Given the description of an element on the screen output the (x, y) to click on. 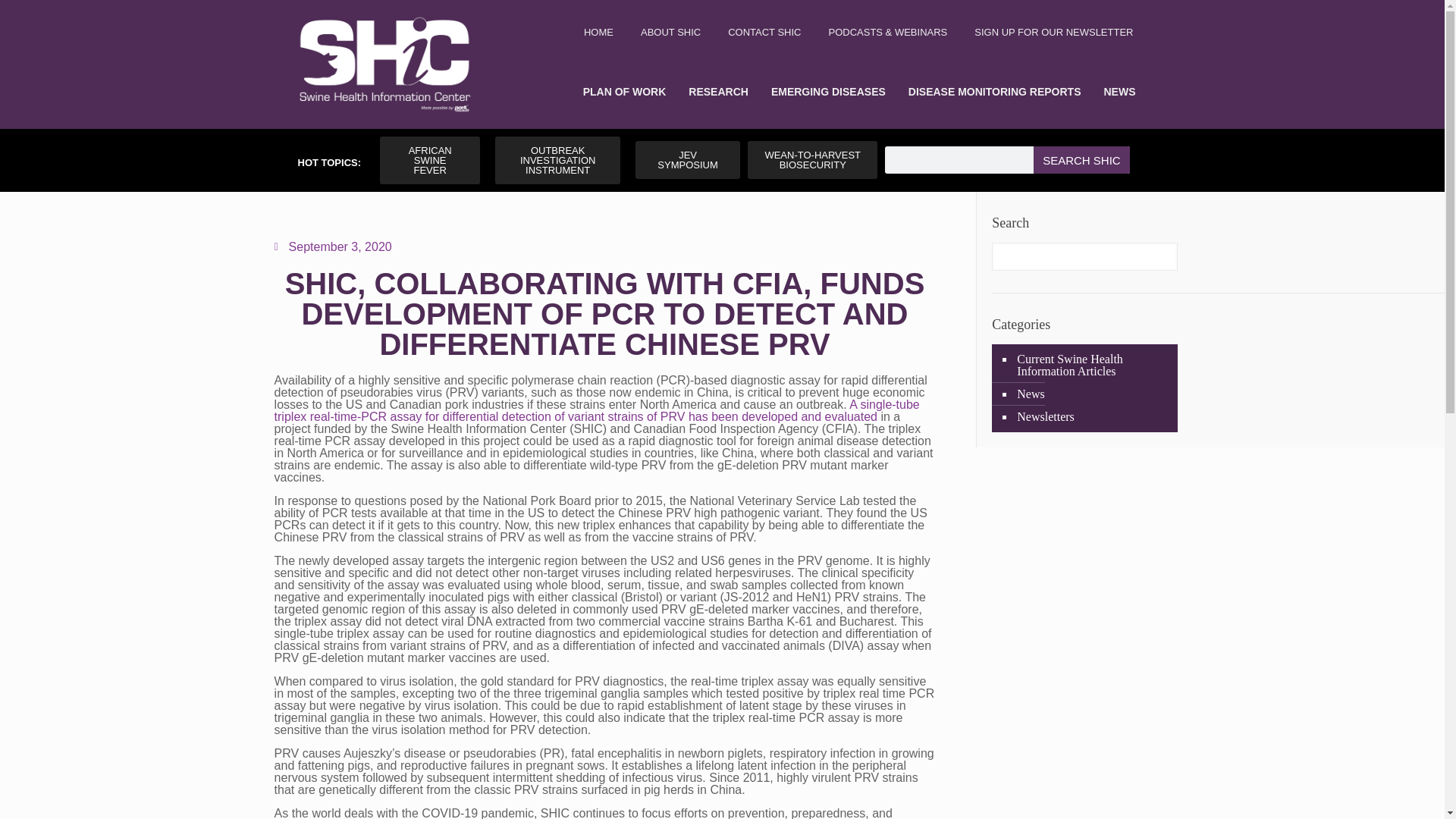
HOME (598, 32)
SIGN UP FOR OUR NEWSLETTER (1053, 32)
CONTACT SHIC (763, 32)
DISEASE MONITORING REPORTS (994, 91)
RESEARCH (718, 91)
ABOUT SHIC (670, 32)
EMERGING DISEASES (828, 91)
PLAN OF WORK (625, 91)
